Given the description of an element on the screen output the (x, y) to click on. 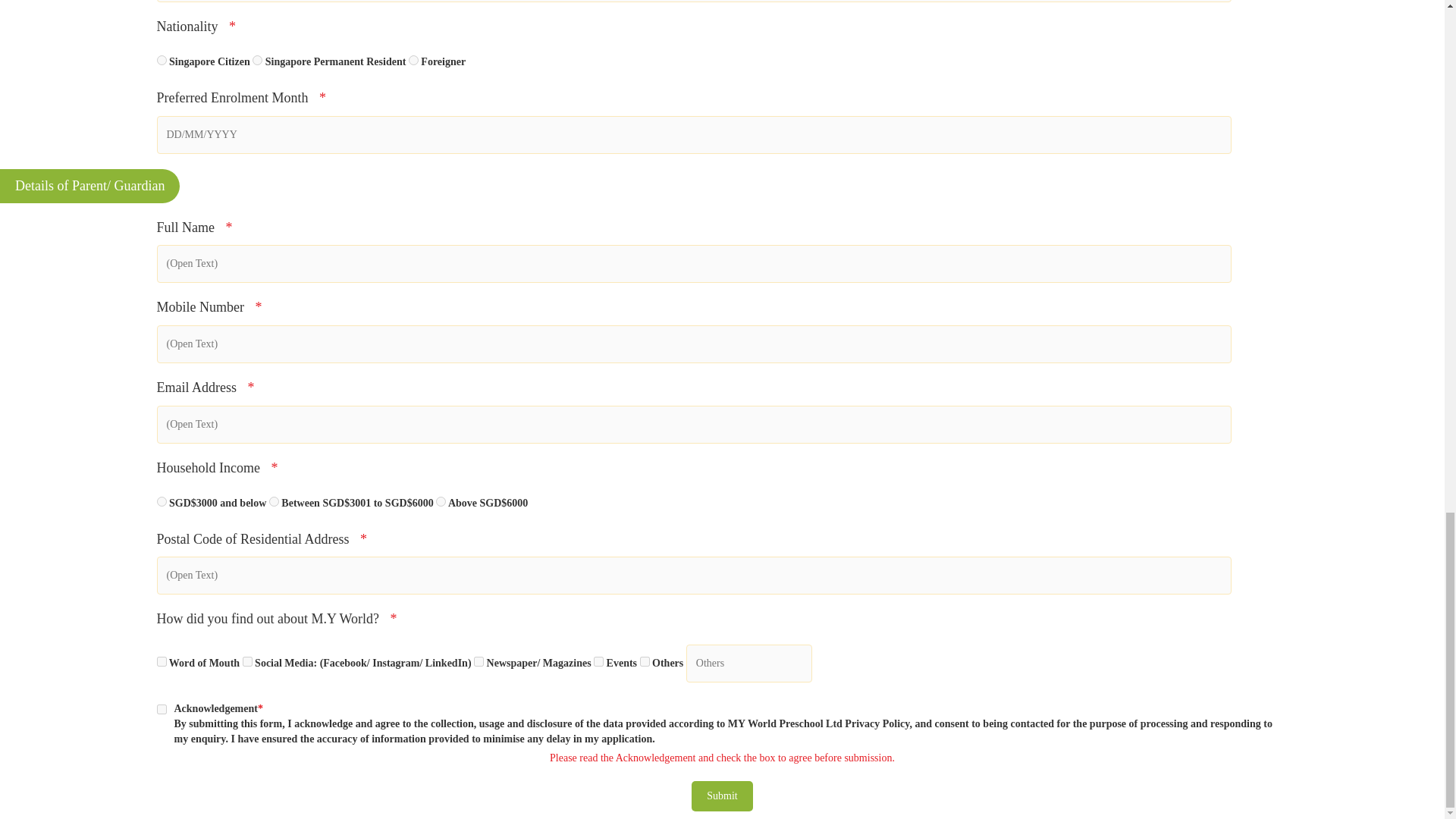
Submit (721, 796)
Foreigner (414, 60)
Singapore Citizen (160, 60)
Word of Mouth (160, 661)
Singapore Permanent Resident (256, 60)
